Given the description of an element on the screen output the (x, y) to click on. 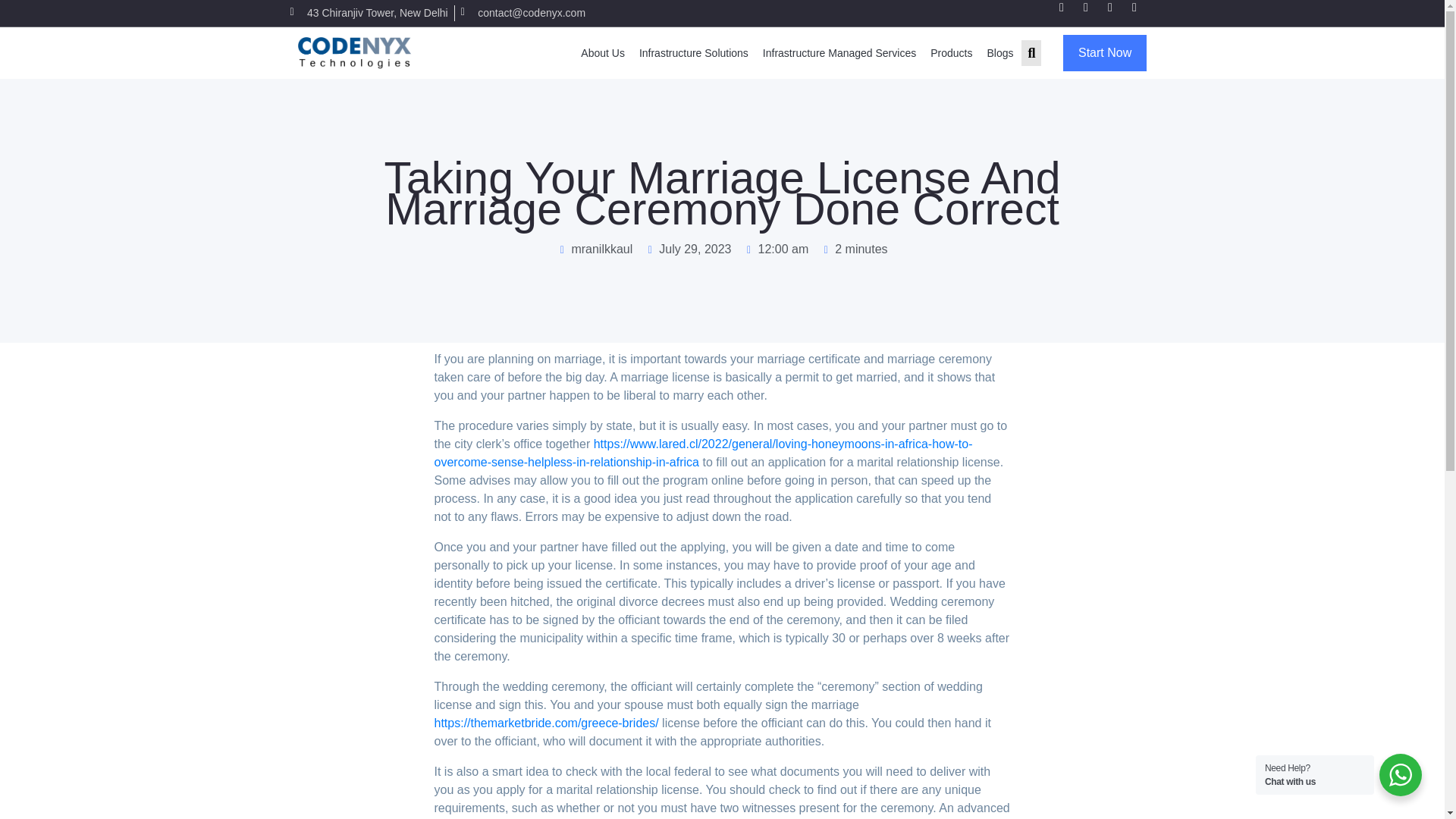
About Us (602, 52)
Products (951, 52)
Infrastructure Solutions (693, 52)
Blogs (1000, 52)
Infrastructure Managed Services (838, 52)
